Given the description of an element on the screen output the (x, y) to click on. 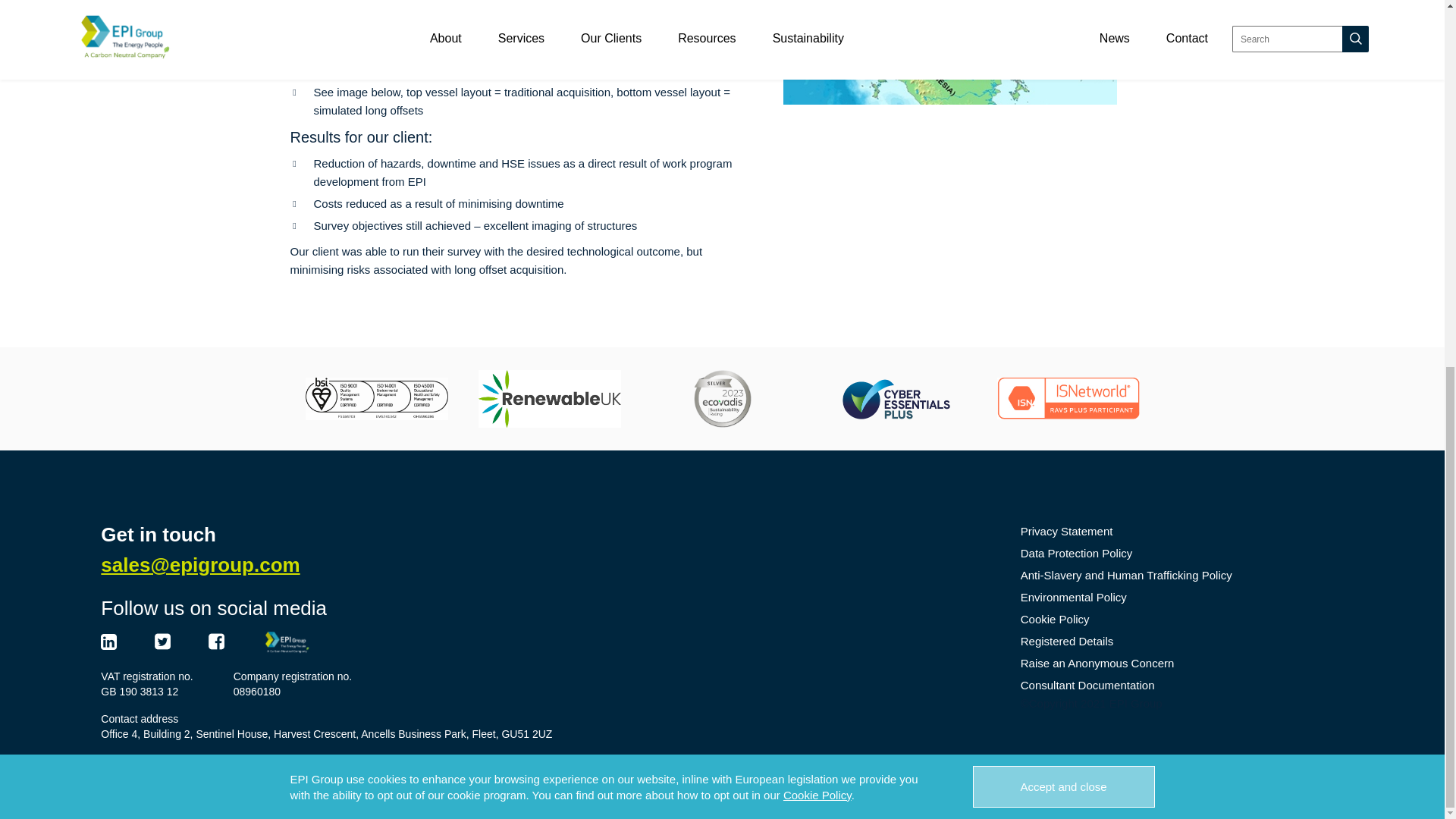
Next (1116, 1)
EPI Group (286, 640)
Previous (783, 1)
